Given the description of an element on the screen output the (x, y) to click on. 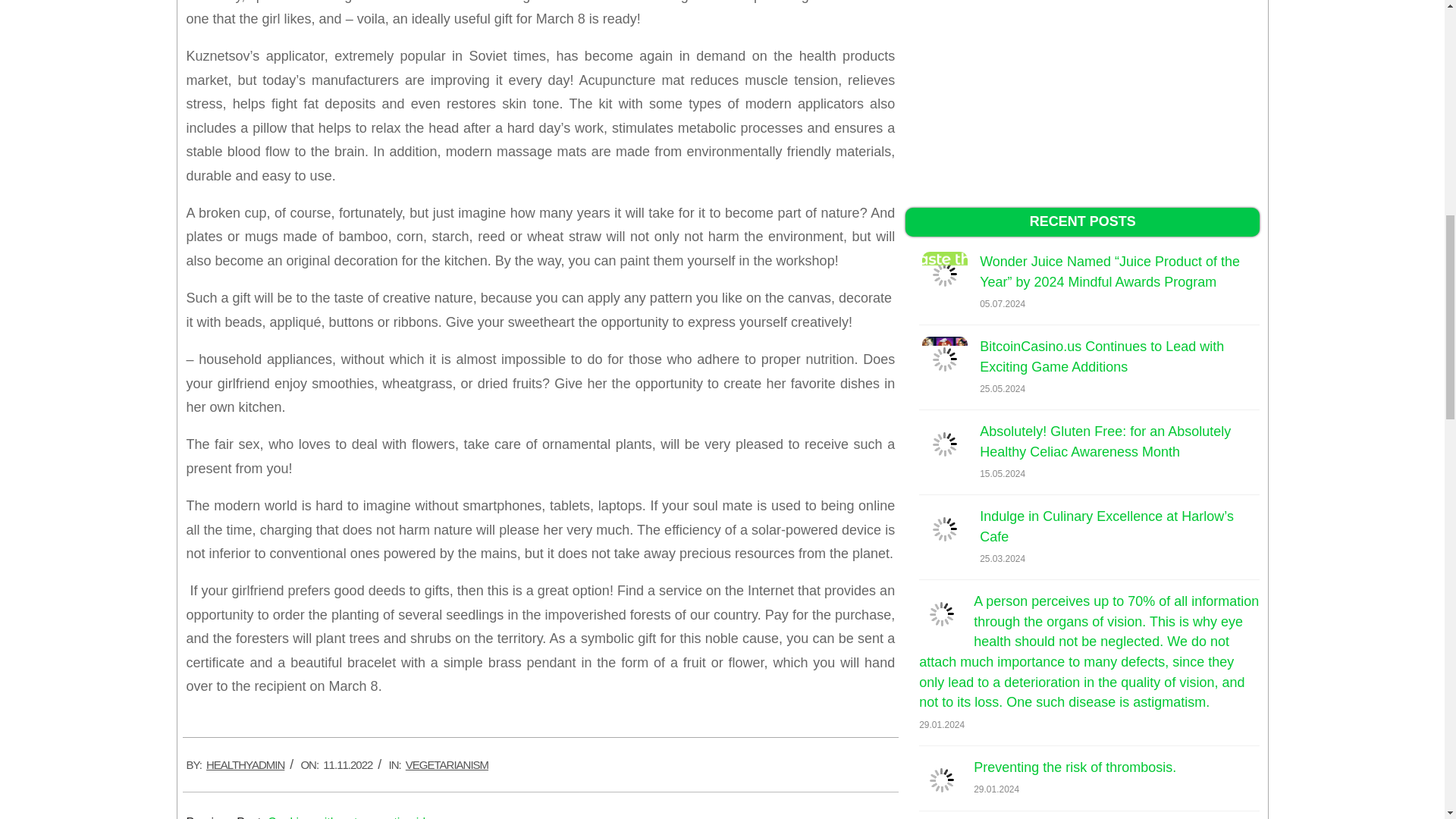
Posts by HealthyAdmin (244, 764)
Friday, November 11, 2022, 12:32 pm (347, 764)
